Given the description of an element on the screen output the (x, y) to click on. 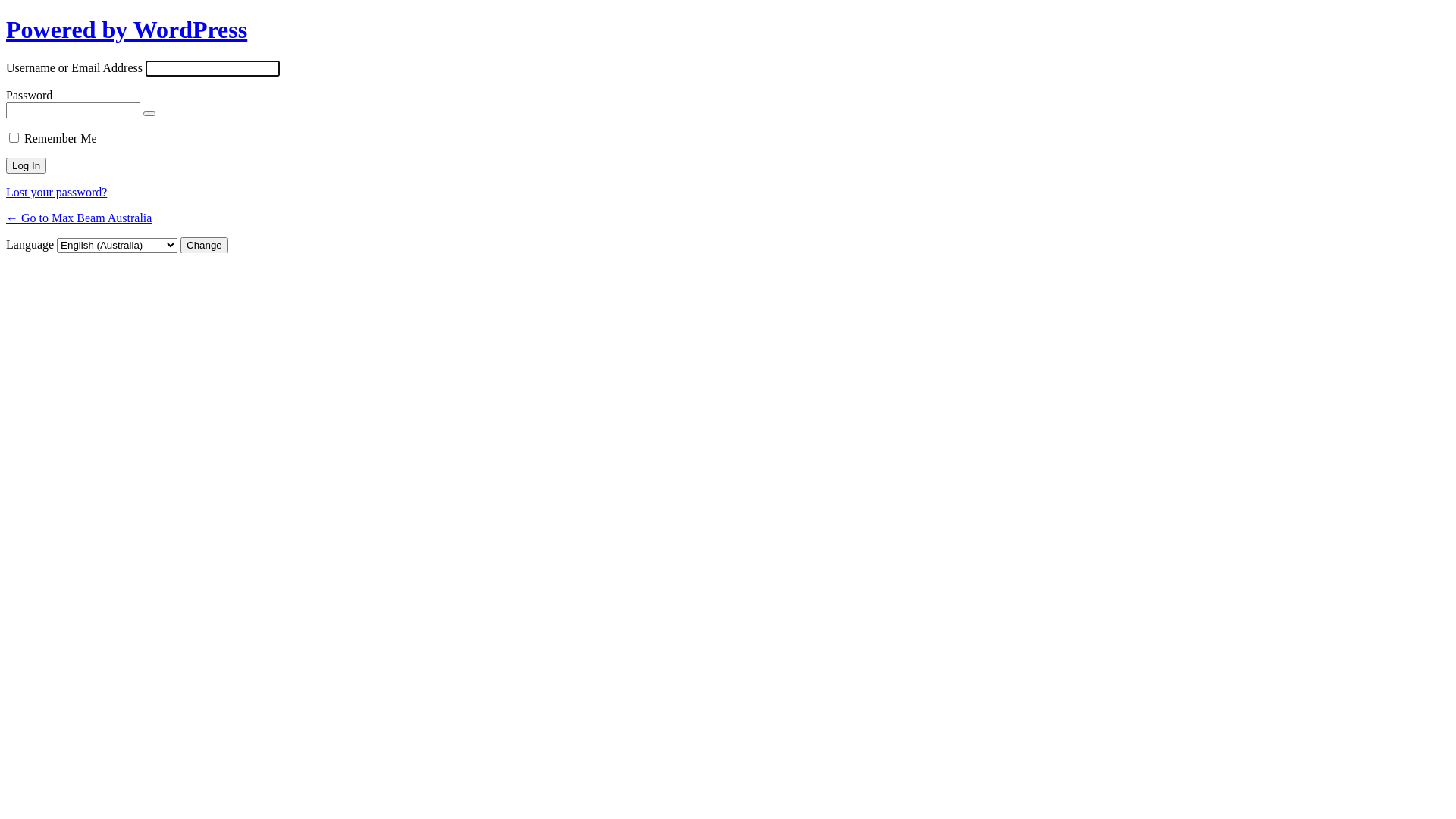
Lost your password? Element type: text (56, 191)
Powered by WordPress Element type: text (126, 29)
Log In Element type: text (26, 165)
Change Element type: text (204, 245)
